Given the description of an element on the screen output the (x, y) to click on. 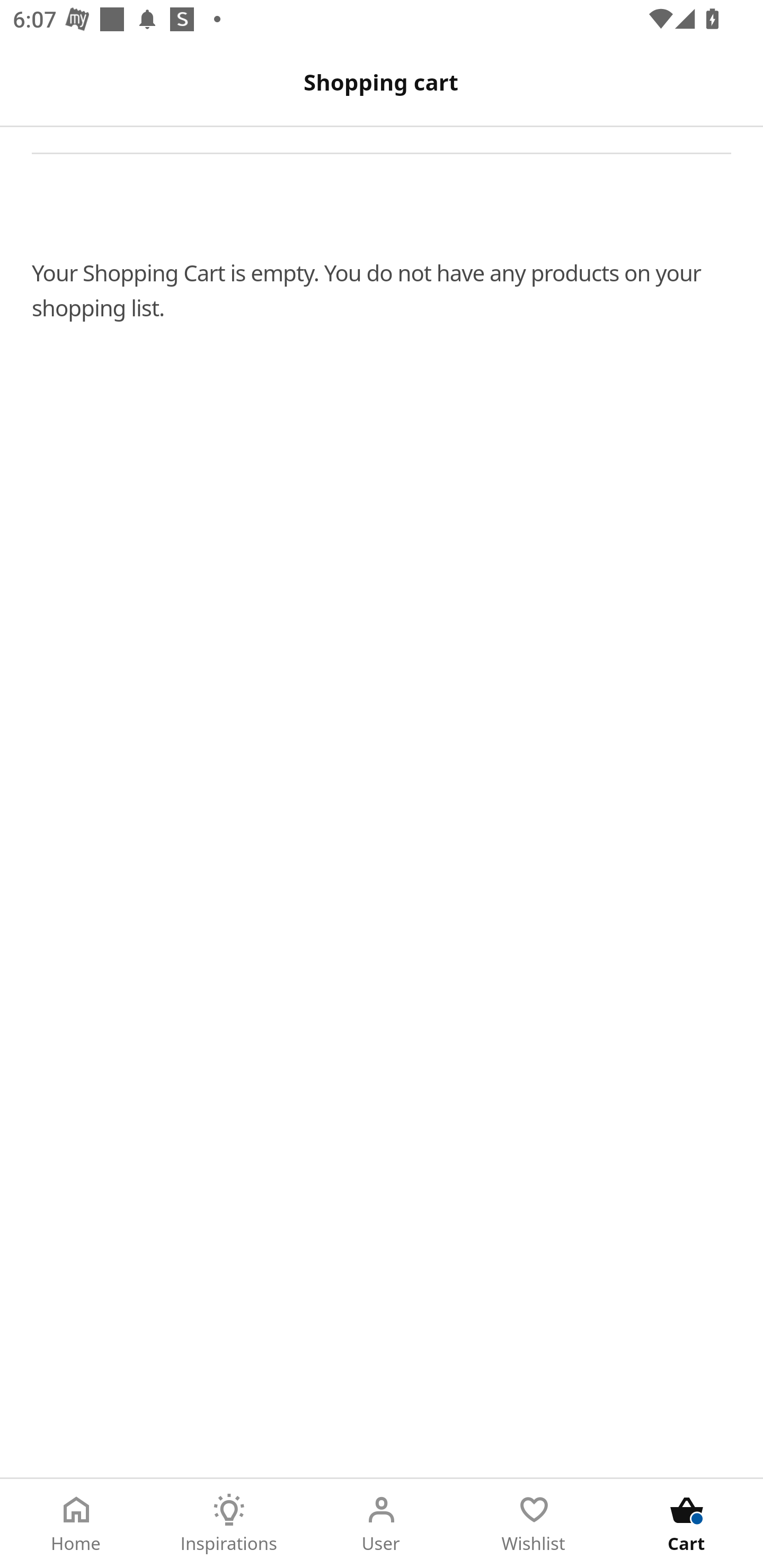
Home
Tab 1 of 5 (76, 1522)
Inspirations
Tab 2 of 5 (228, 1522)
User
Tab 3 of 5 (381, 1522)
Wishlist
Tab 4 of 5 (533, 1522)
Cart
Tab 5 of 5 (686, 1522)
